Given the description of an element on the screen output the (x, y) to click on. 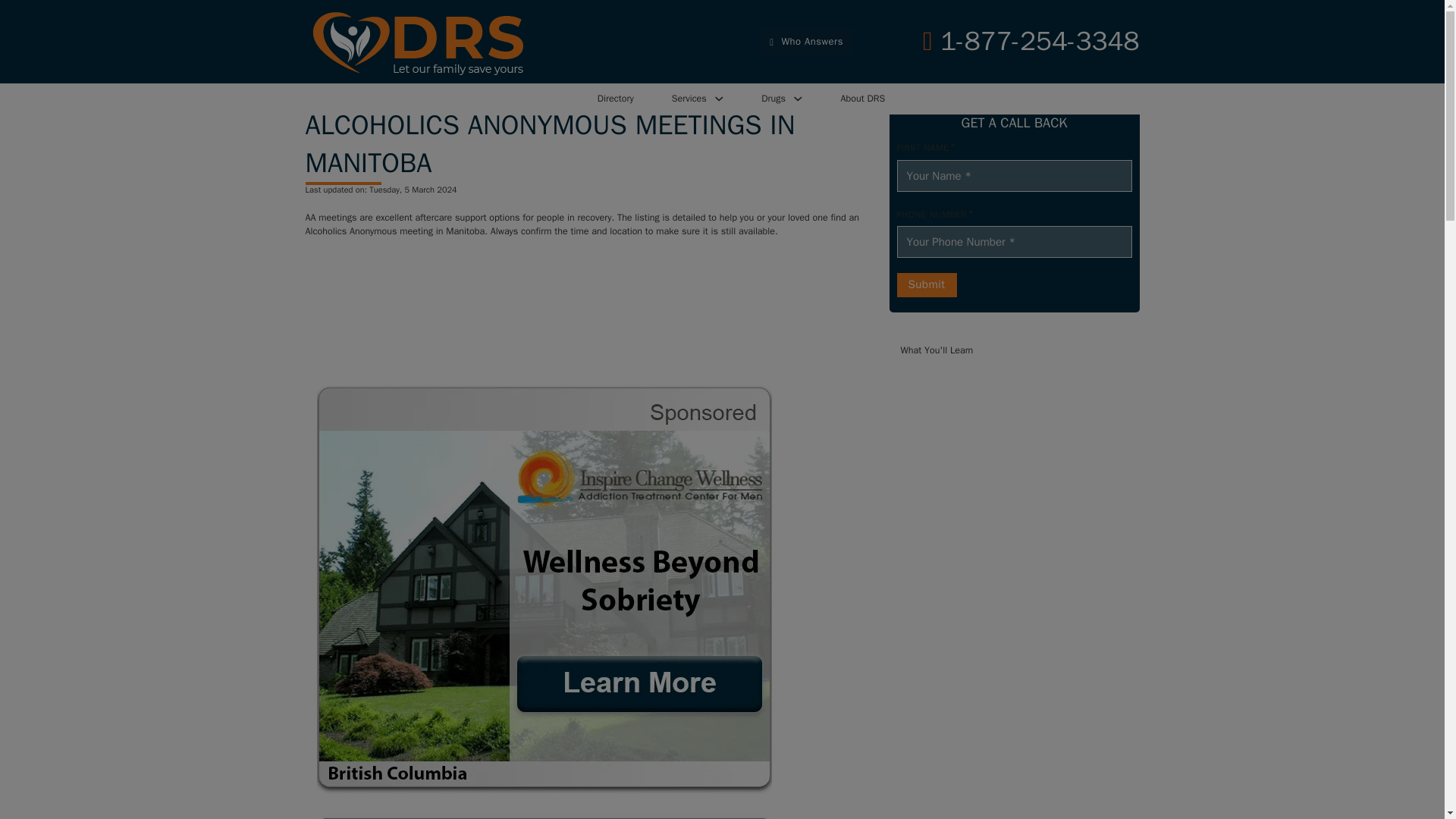
Submit (926, 284)
Drugs (773, 98)
Directory (614, 98)
1-877-254-3348 (1031, 40)
Services (688, 98)
About DRS (863, 98)
